Given the description of an element on the screen output the (x, y) to click on. 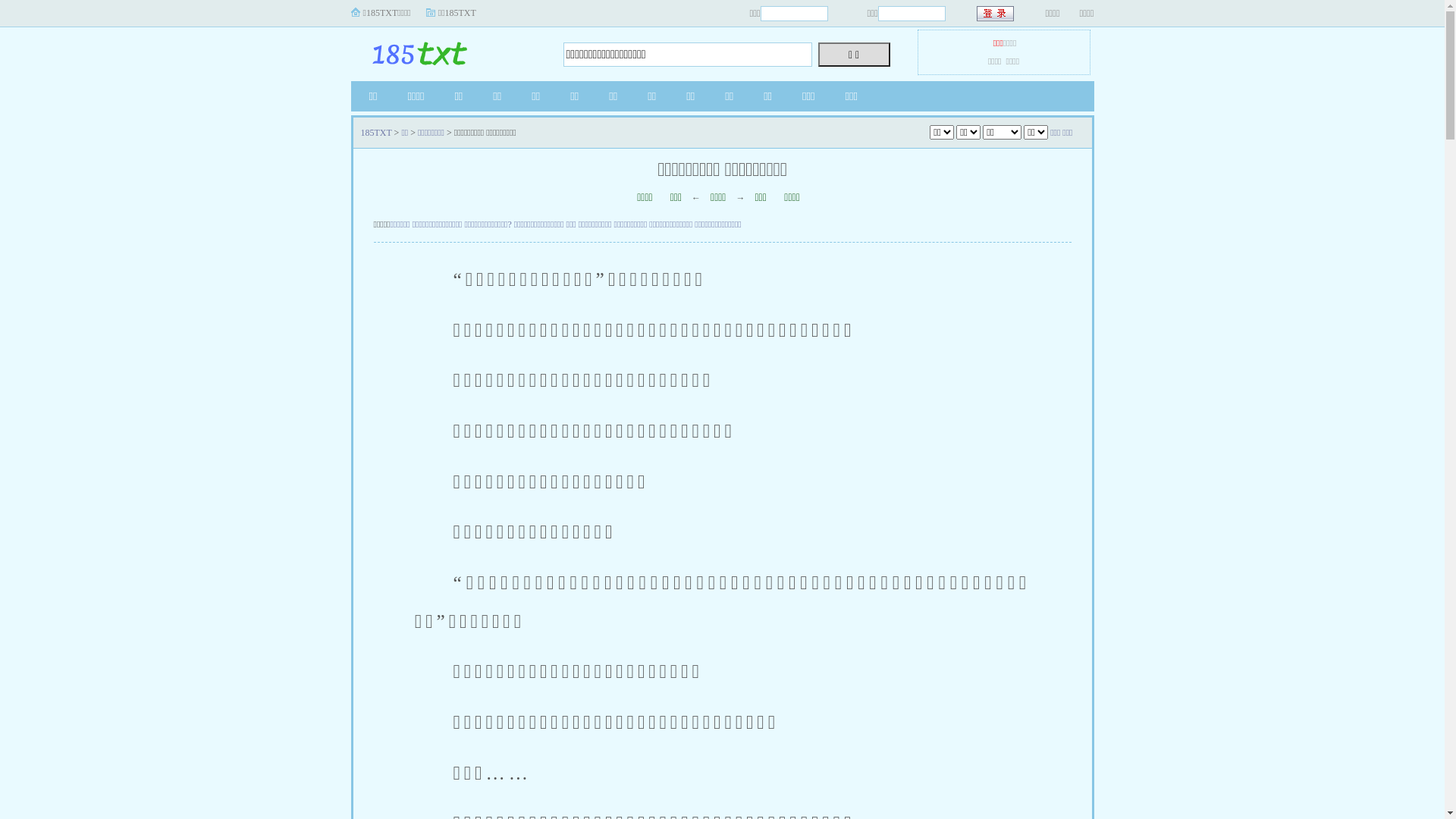
185TXT Element type: text (376, 132)
  Element type: text (995, 13)
185TXT Element type: text (444, 49)
